Given the description of an element on the screen output the (x, y) to click on. 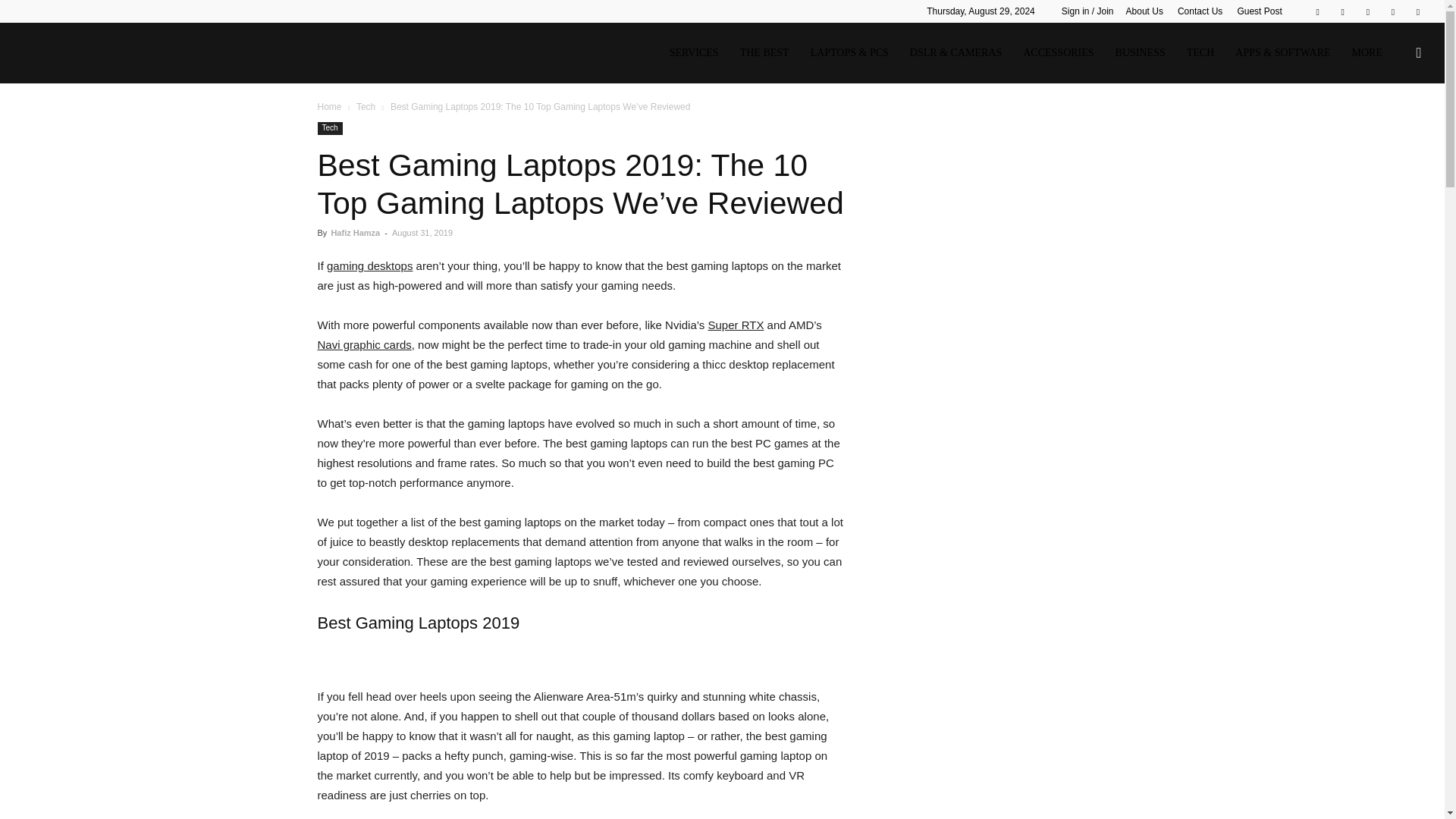
RSS (1367, 11)
Facebook (1317, 11)
Contact Us (1200, 10)
View all posts in Tech (365, 106)
Guest Post (1258, 10)
Tumblr (1393, 11)
Twitter (1417, 11)
About Us (1144, 10)
Pinterest (1343, 11)
